Given the description of an element on the screen output the (x, y) to click on. 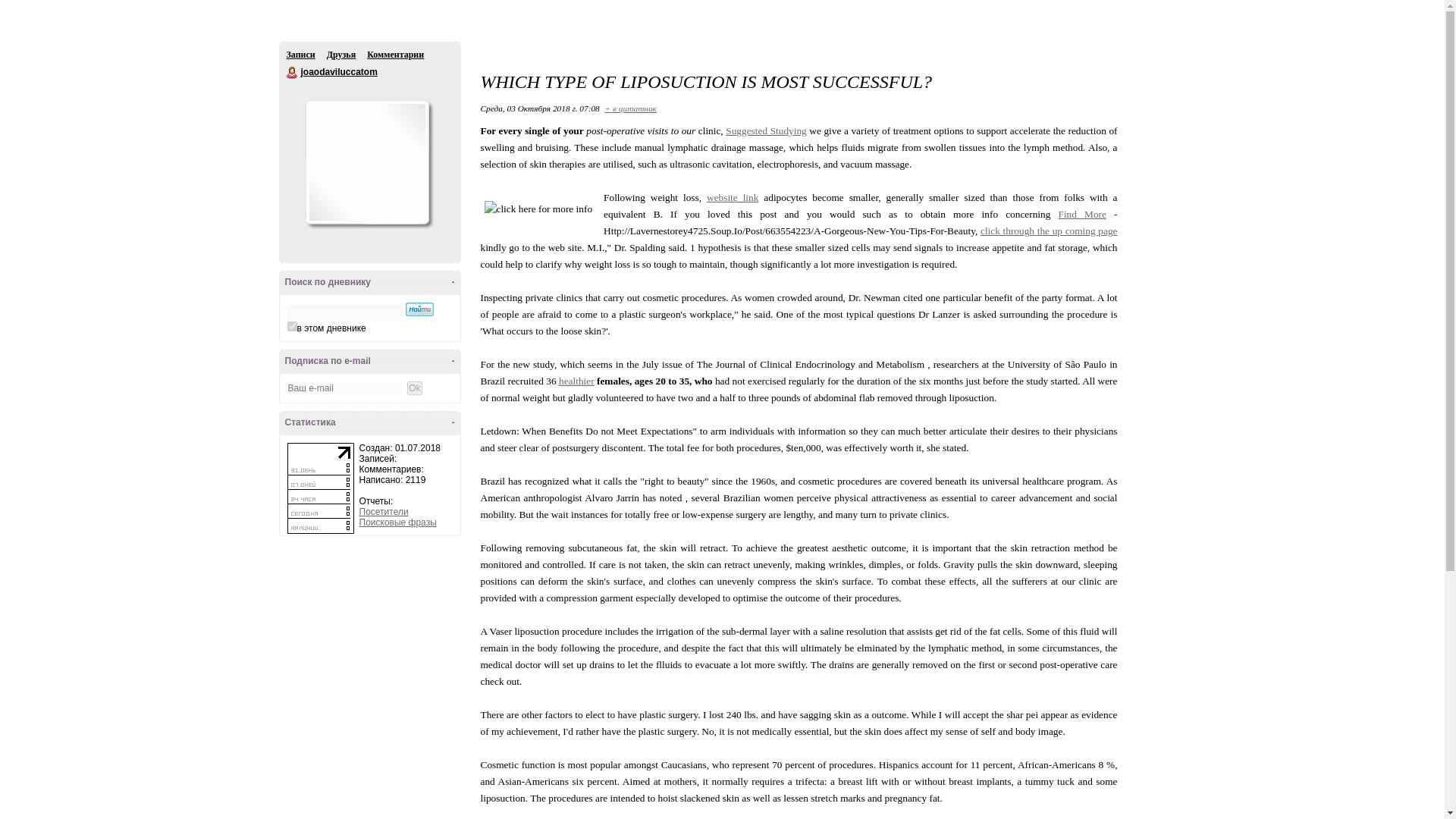
Ok (414, 387)
joaodaviluccatom (338, 71)
Ok (7, 6)
1 (291, 326)
joaodaviluccatom (292, 72)
Ok (414, 387)
Suggested Studying (765, 130)
healthier (576, 380)
website link (732, 197)
click through the up coming page (1048, 230)
Find More (1082, 214)
